Given the description of an element on the screen output the (x, y) to click on. 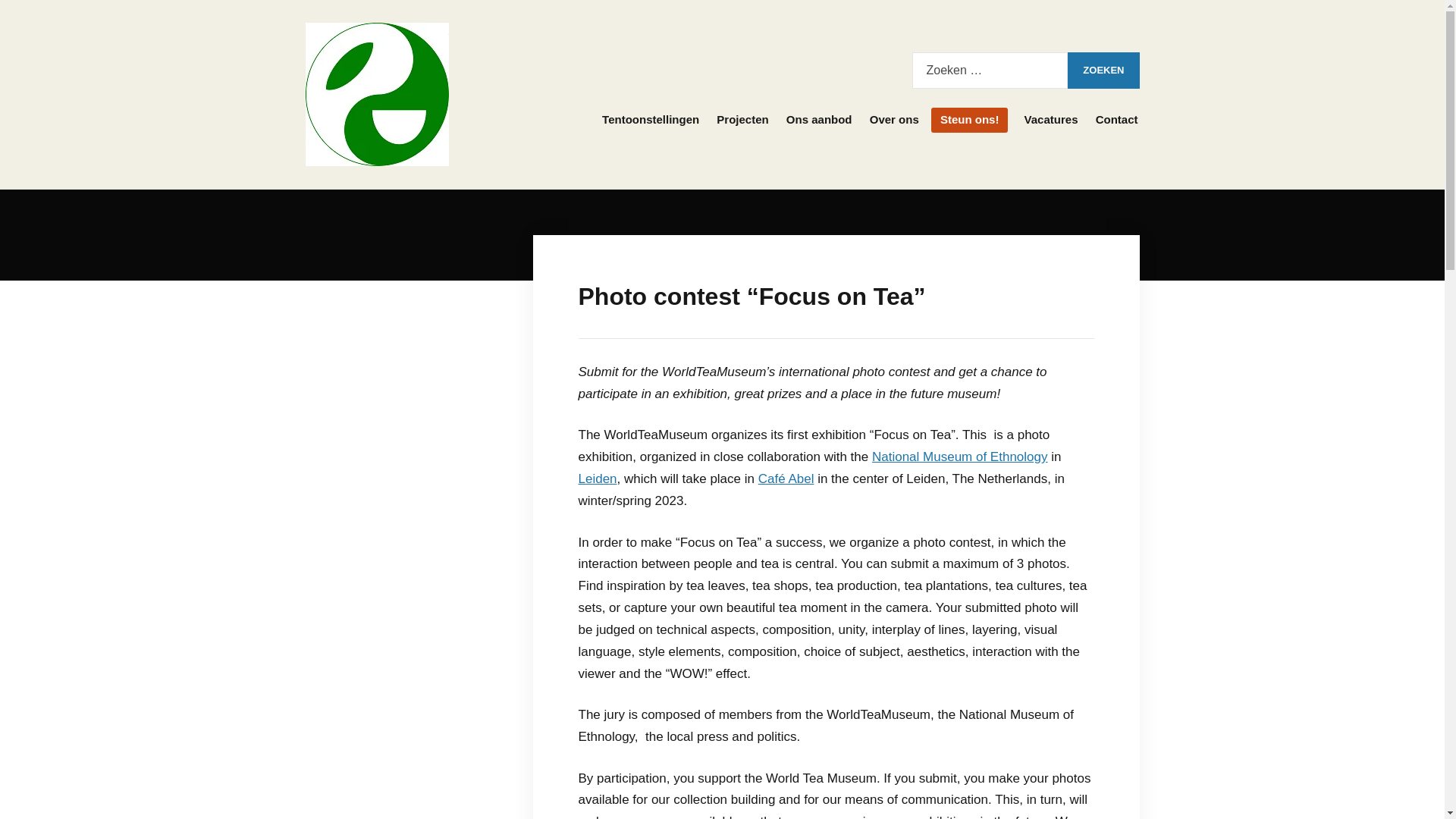
Projecten (742, 120)
Ons aanbod (818, 120)
Zoeken (1102, 70)
Zoeken (1102, 70)
Zoeken (1102, 70)
Over ons (893, 120)
Tentoonstellingen (649, 120)
